Given the description of an element on the screen output the (x, y) to click on. 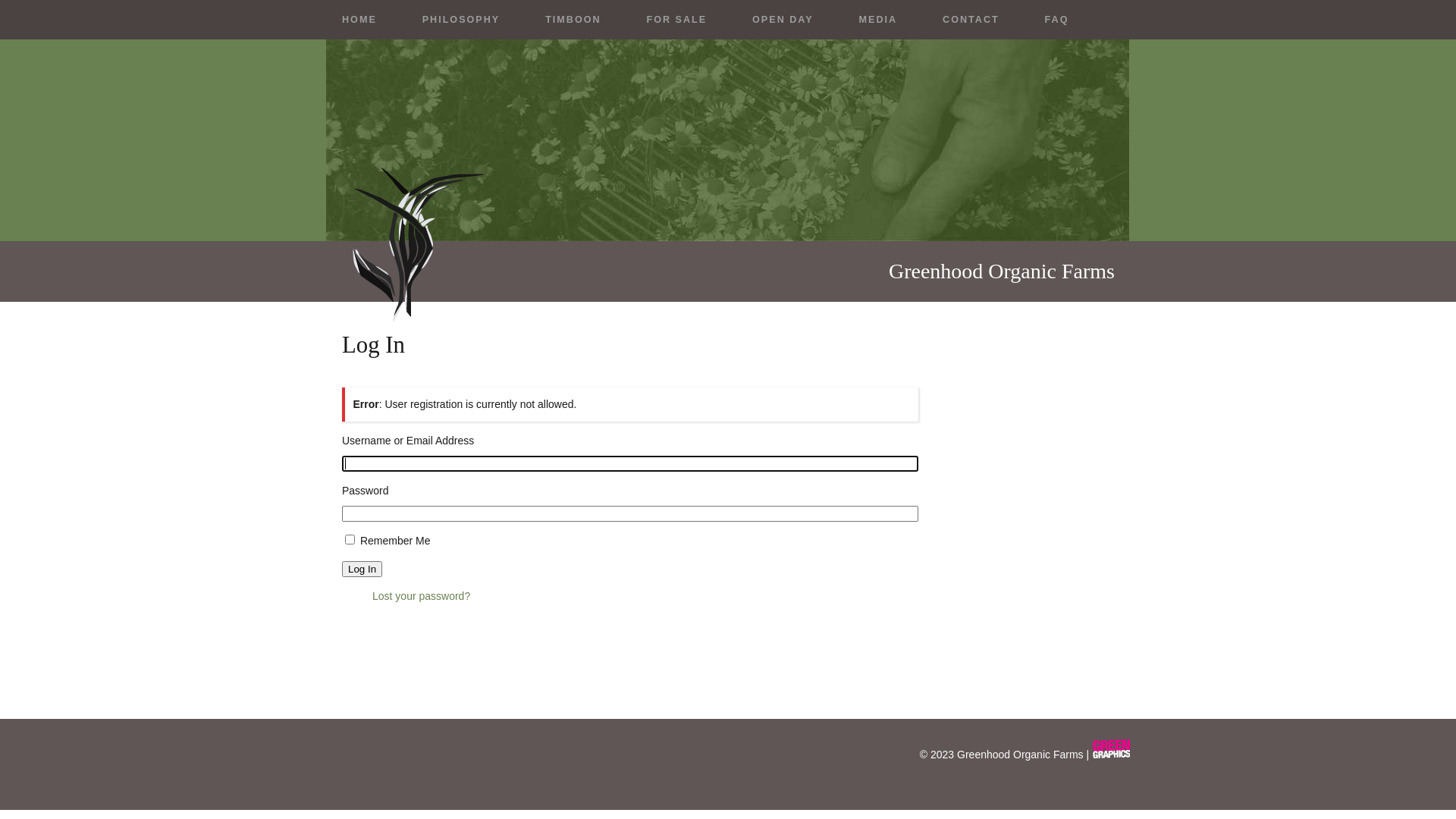
OPEN DAY Element type: text (782, 20)
Lost your password? Element type: text (421, 595)
FOR SALE Element type: text (676, 20)
TIMBOON Element type: text (572, 20)
CONTACT Element type: text (970, 20)
MEDIA Element type: text (878, 20)
HOME Element type: text (359, 20)
FAQ Element type: text (1056, 20)
Greenhood Organic Farms Element type: text (1020, 754)
PHILOSOPHY Element type: text (461, 20)
Log In Element type: text (362, 569)
